Given the description of an element on the screen output the (x, y) to click on. 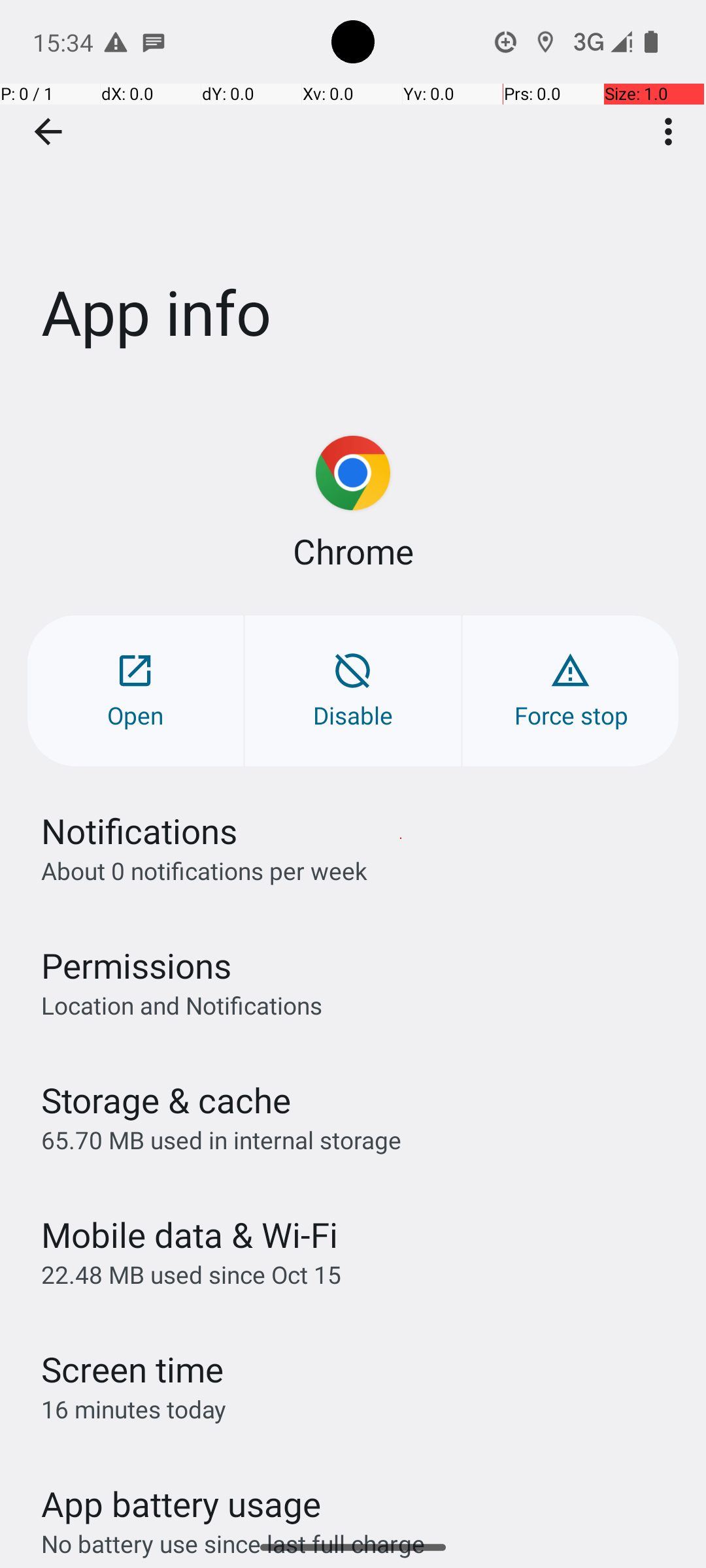
Open Element type: android.widget.Button (135, 690)
Disable Element type: android.widget.Button (352, 690)
About 0 notifications per week Element type: android.widget.TextView (204, 870)
Location and Notifications Element type: android.widget.TextView (181, 1004)
65.70 MB used in internal storage Element type: android.widget.TextView (221, 1139)
22.48 MB used since Oct 15 Element type: android.widget.TextView (191, 1273)
16 minutes today Element type: android.widget.TextView (133, 1408)
App battery usage Element type: android.widget.TextView (181, 1503)
